Given the description of an element on the screen output the (x, y) to click on. 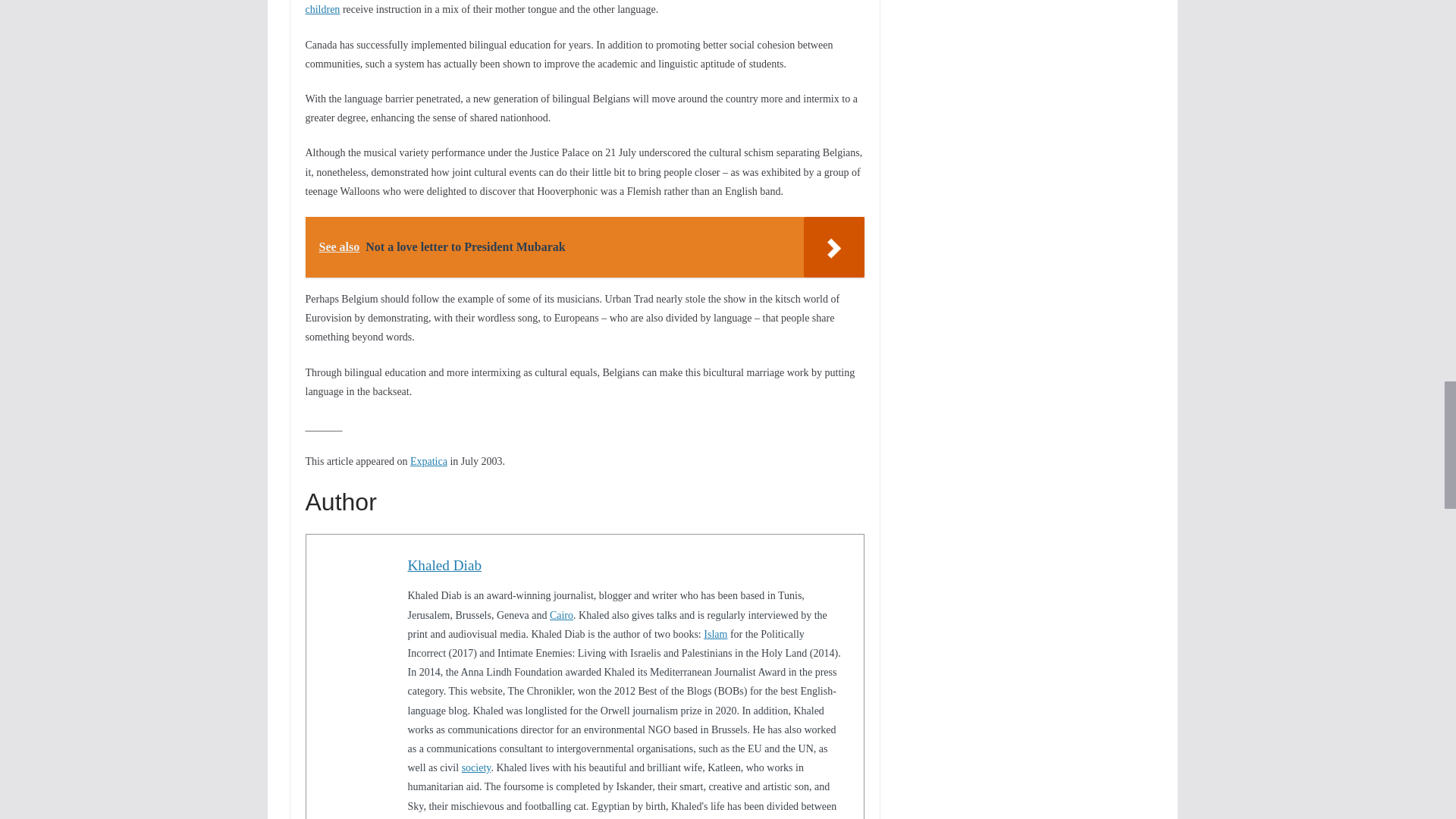
Posts tagged with children (321, 9)
Khaled Diab (444, 565)
Posts tagged with cairo (561, 614)
Posts tagged with islam (714, 633)
